Given the description of an element on the screen output the (x, y) to click on. 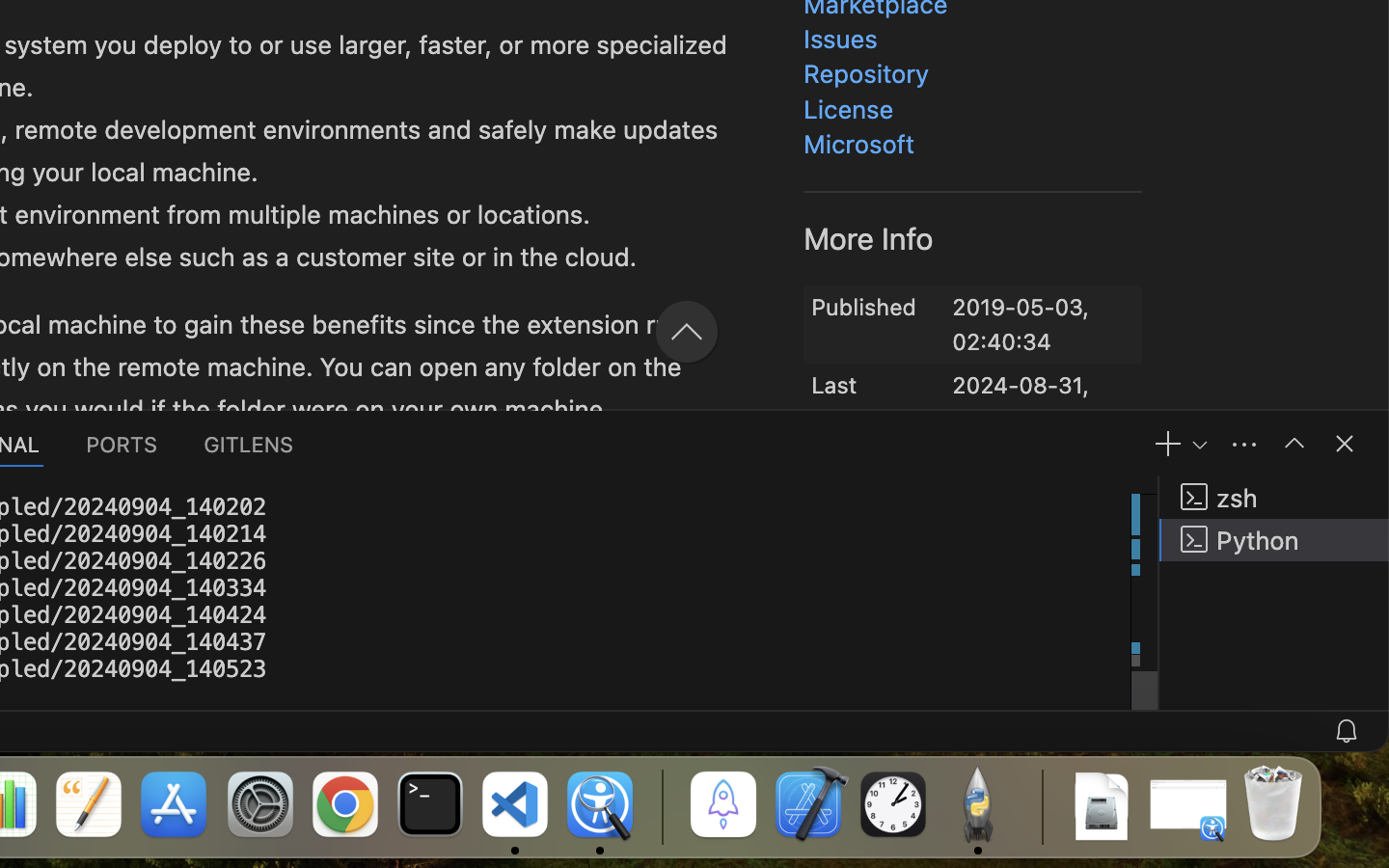
0 GITLENS Element type: AXRadioButton (249, 443)
2024-08-31, 03:38:34 Element type: AXStaticText (1021, 389)
Published Element type: AXStaticText (864, 306)
License Element type: AXStaticText (849, 108)
Repository Element type: AXStaticText (866, 73)
